Given the description of an element on the screen output the (x, y) to click on. 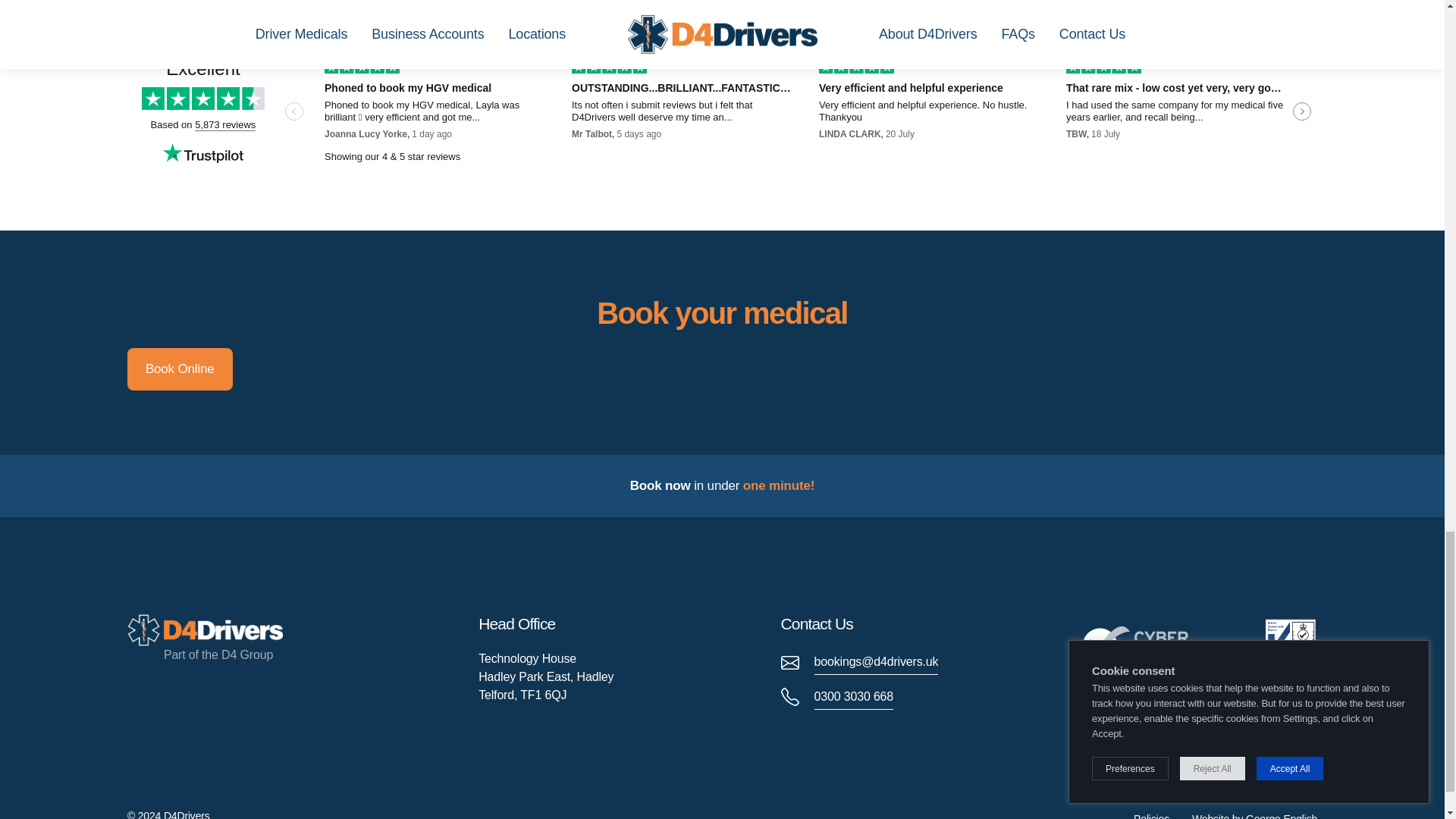
Book Online (180, 369)
Customer reviews powered by Trustpilot (722, 112)
0300 3030 668 (836, 696)
Book now (660, 485)
Policies (1151, 816)
